Given the description of an element on the screen output the (x, y) to click on. 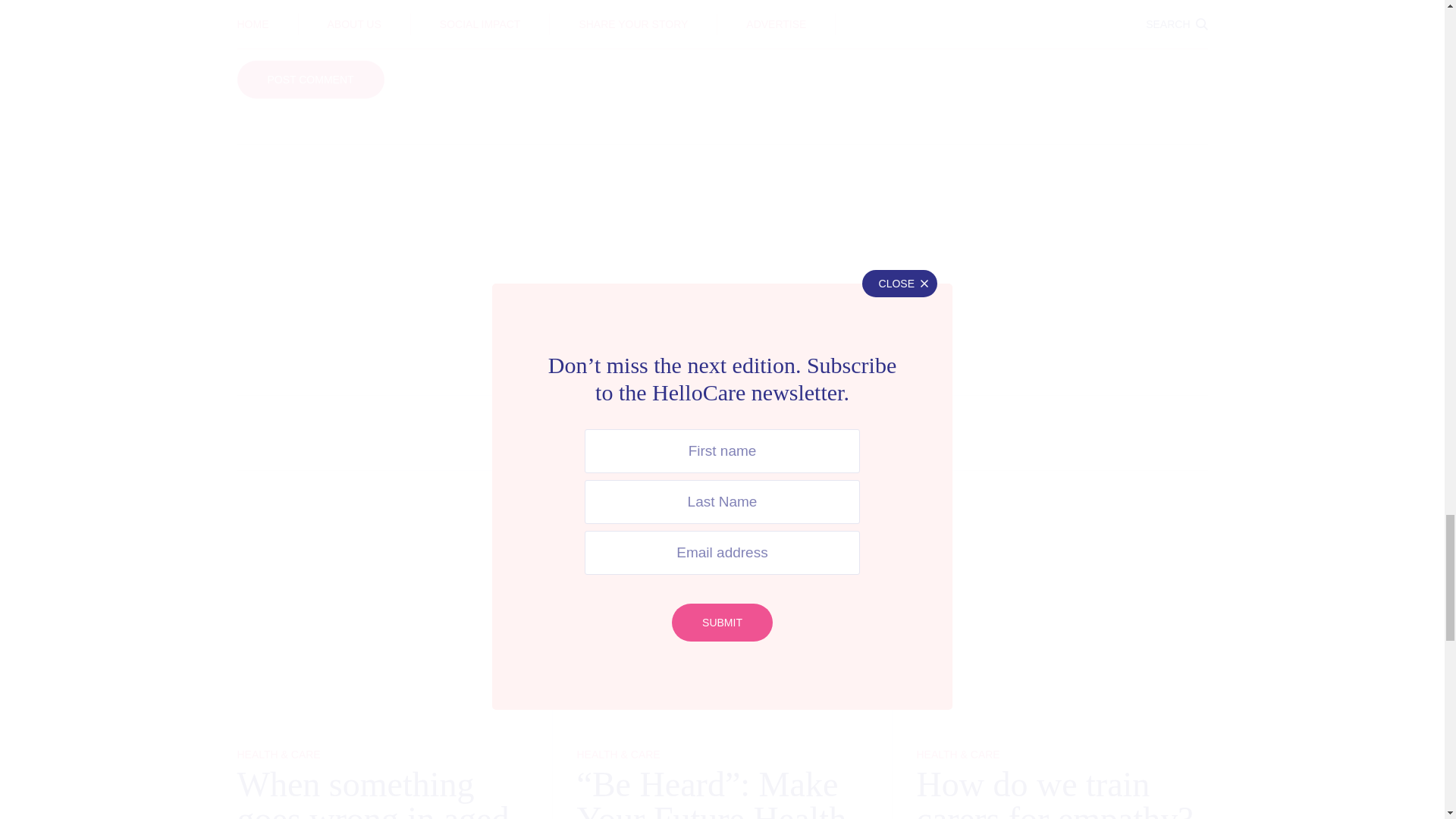
Post Comment (309, 79)
